Given the description of an element on the screen output the (x, y) to click on. 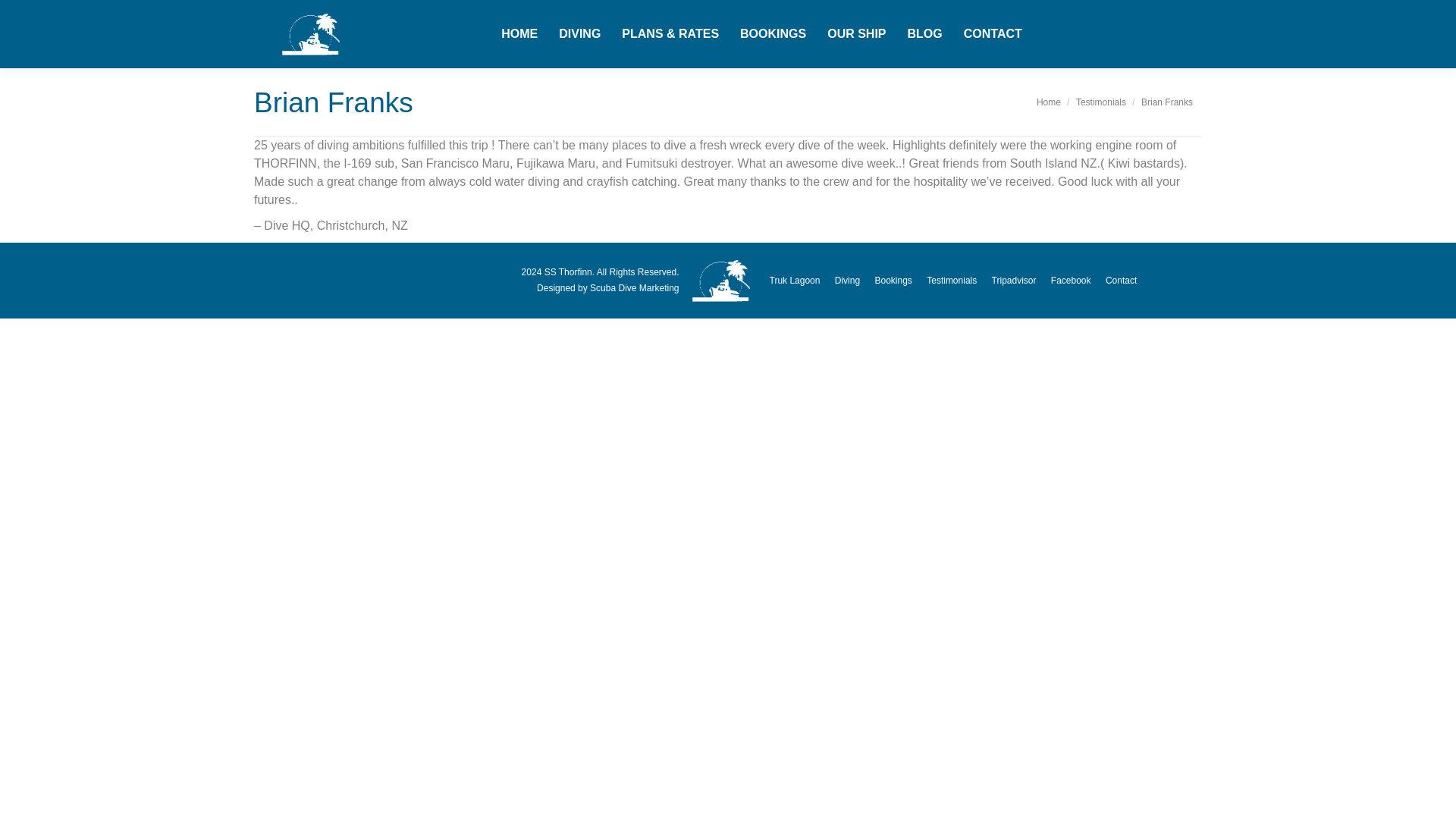
DIVING (579, 34)
Testimonials (1100, 102)
HOME (518, 34)
CONTACT (992, 34)
OUR SHIP (856, 34)
BLOG (924, 34)
BOOKINGS (772, 34)
Home (1048, 102)
